Given the description of an element on the screen output the (x, y) to click on. 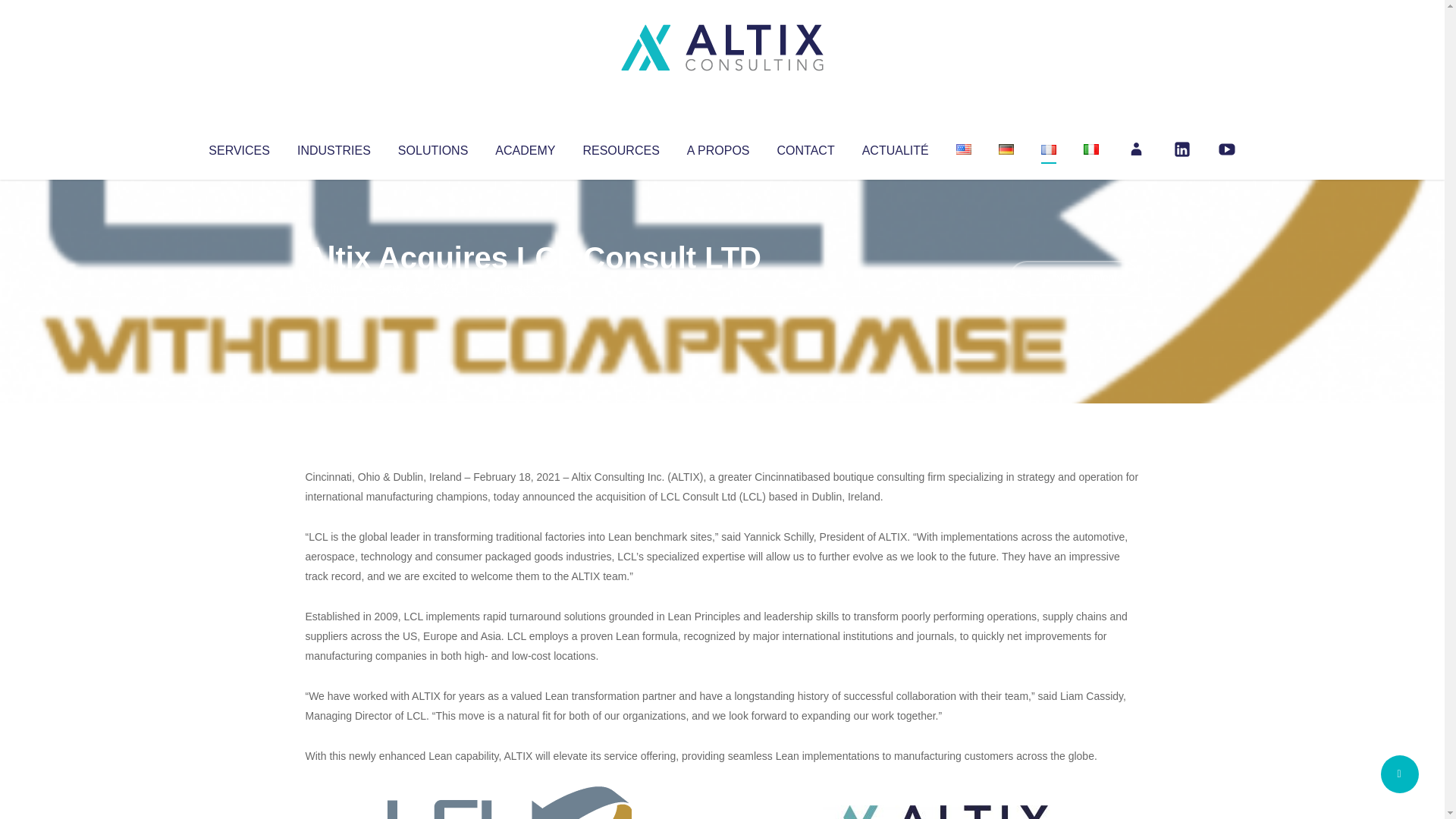
SOLUTIONS (432, 146)
SERVICES (238, 146)
RESOURCES (620, 146)
ACADEMY (524, 146)
INDUSTRIES (334, 146)
Uncategorized (530, 287)
Articles par Altix (333, 287)
No Comments (1073, 278)
Altix (333, 287)
A PROPOS (718, 146)
